Given the description of an element on the screen output the (x, y) to click on. 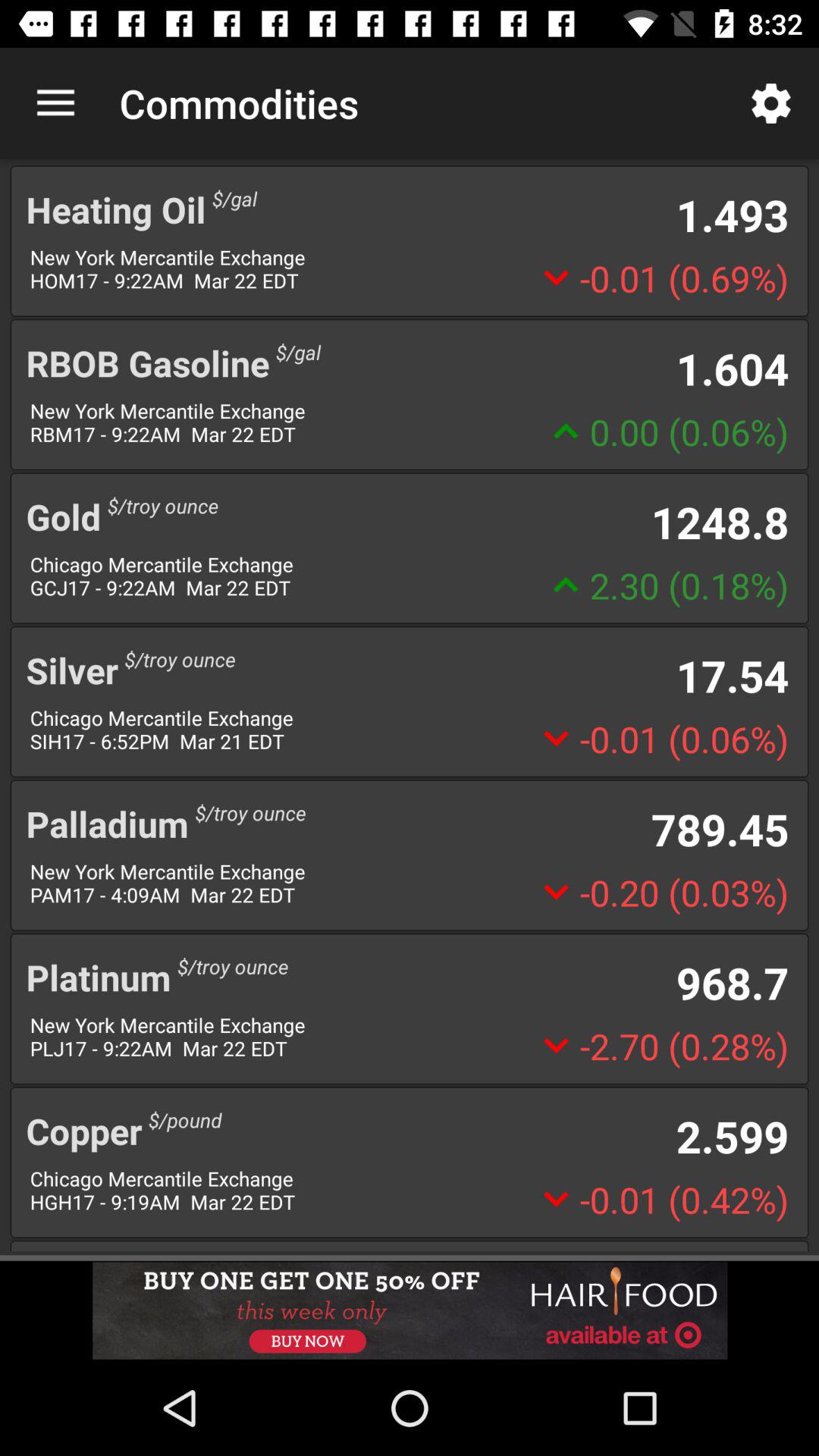
advertisement from outside source (409, 1310)
